Given the description of an element on the screen output the (x, y) to click on. 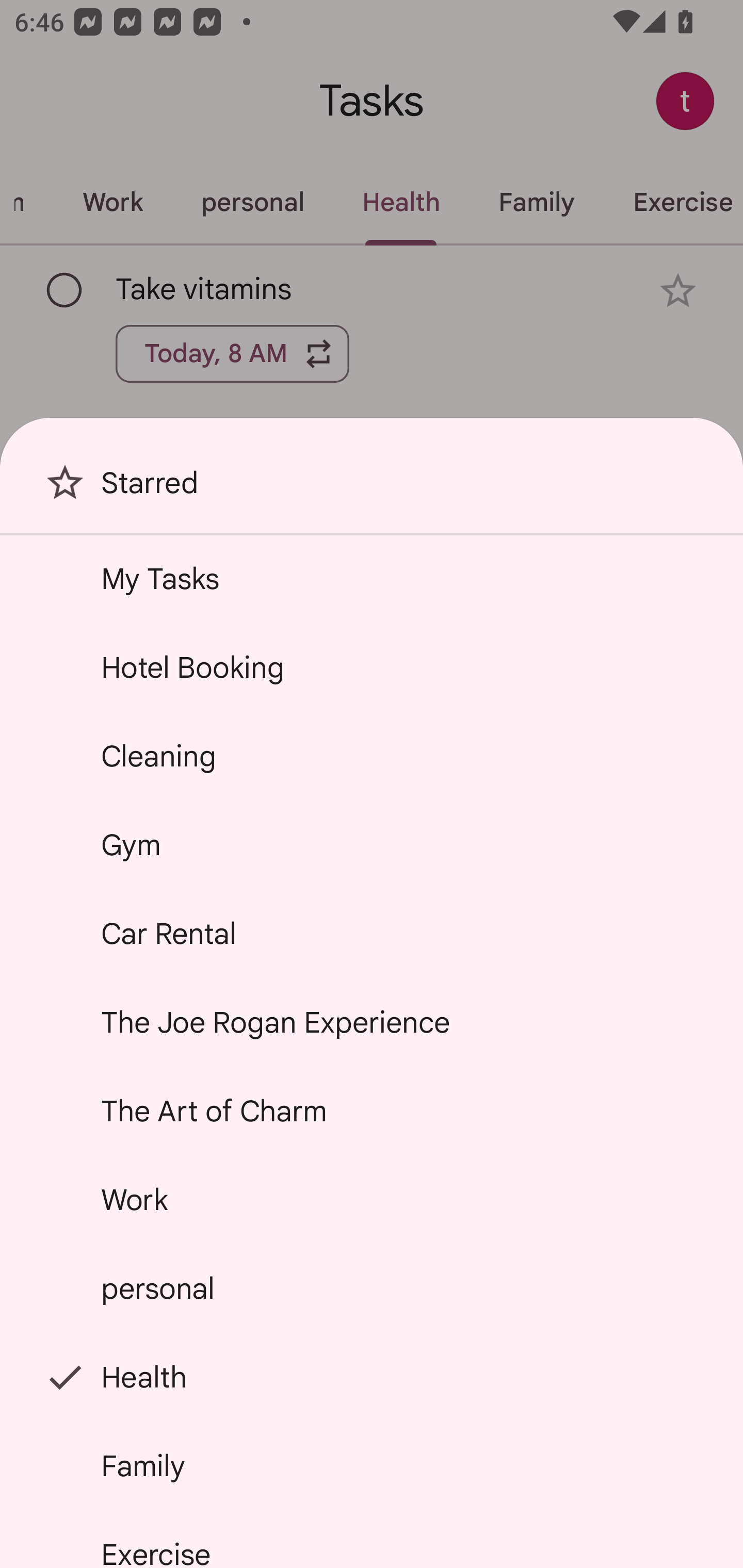
Starred (371, 489)
My Tasks (371, 578)
Hotel Booking (371, 667)
Cleaning (371, 756)
Gym (371, 844)
Car Rental (371, 933)
The Joe Rogan Experience (371, 1022)
The Art of Charm (371, 1110)
Work (371, 1200)
personal (371, 1287)
Health (371, 1377)
Family (371, 1465)
Exercise (371, 1539)
